Given the description of an element on the screen output the (x, y) to click on. 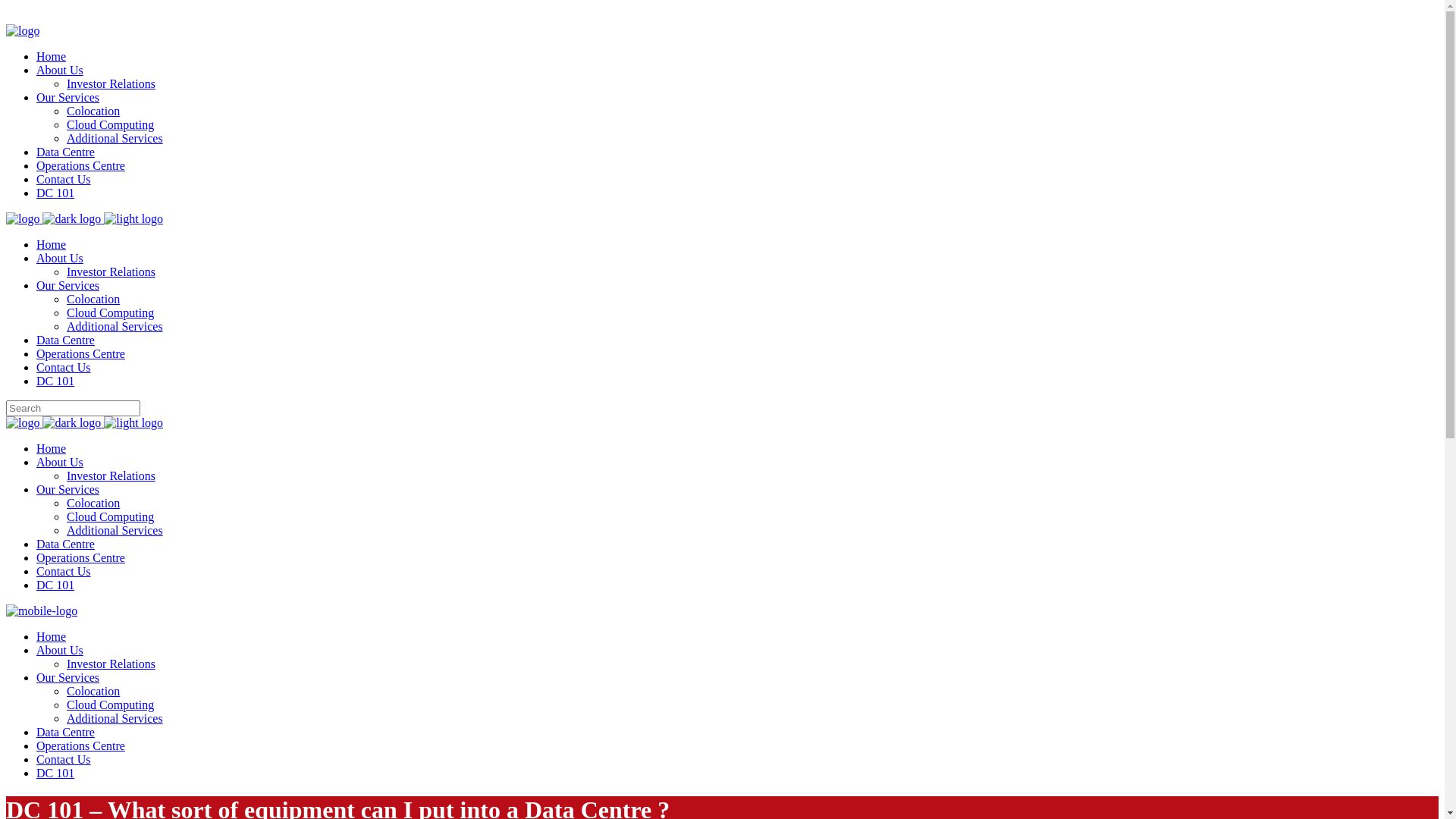
Colocation Element type: text (92, 690)
Home Element type: text (50, 244)
Colocation Element type: text (92, 298)
About Us Element type: text (59, 257)
Investor Relations Element type: text (110, 83)
About Us Element type: text (59, 461)
Investor Relations Element type: text (110, 663)
Additional Services Element type: text (114, 718)
Our Services Element type: text (67, 285)
Data Centre Element type: text (65, 731)
Contact Us Element type: text (63, 366)
Additional Services Element type: text (114, 137)
Additional Services Element type: text (114, 326)
Operations Centre Element type: text (80, 353)
DC 101 Element type: text (55, 380)
Contact Us Element type: text (63, 178)
Colocation Element type: text (92, 110)
DC 101 Element type: text (55, 584)
Cloud Computing Element type: text (109, 124)
Home Element type: text (50, 636)
Home Element type: text (50, 56)
Cloud Computing Element type: text (109, 312)
Cloud Computing Element type: text (109, 704)
Data Centre Element type: text (65, 151)
Operations Centre Element type: text (80, 165)
Operations Centre Element type: text (80, 557)
Data Centre Element type: text (65, 543)
Contact Us Element type: text (63, 570)
Home Element type: text (50, 448)
DC 101 Element type: text (55, 772)
Our Services Element type: text (67, 97)
Investor Relations Element type: text (110, 475)
About Us Element type: text (59, 69)
DC 101 Element type: text (55, 192)
Cloud Computing Element type: text (109, 516)
Additional Services Element type: text (114, 530)
About Us Element type: text (59, 649)
Investor Relations Element type: text (110, 271)
Contact Us Element type: text (63, 759)
Our Services Element type: text (67, 677)
Our Services Element type: text (67, 489)
Data Centre Element type: text (65, 339)
Colocation Element type: text (92, 502)
Operations Centre Element type: text (80, 745)
